Given the description of an element on the screen output the (x, y) to click on. 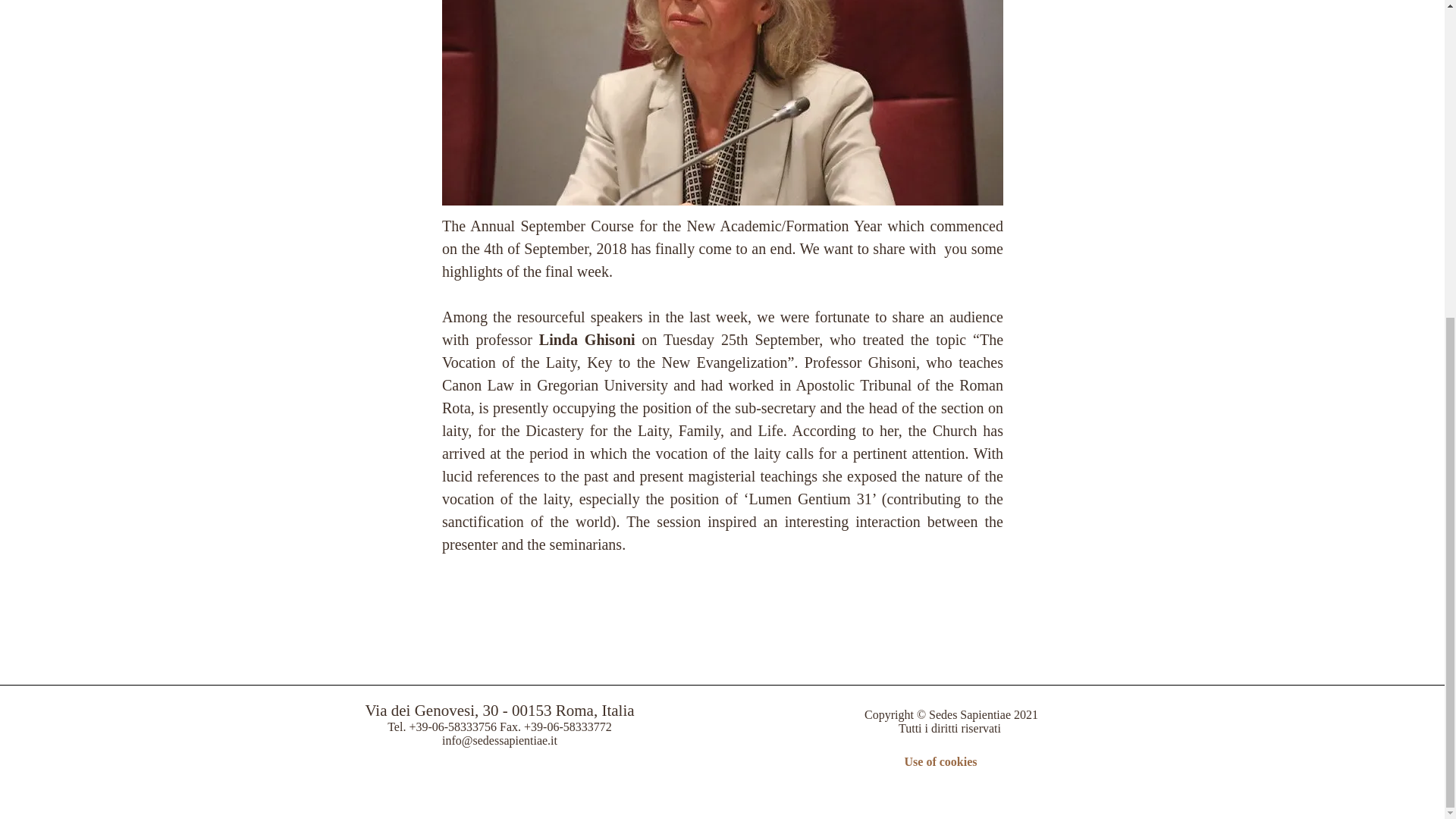
Use of cookies (940, 761)
